Given the description of an element on the screen output the (x, y) to click on. 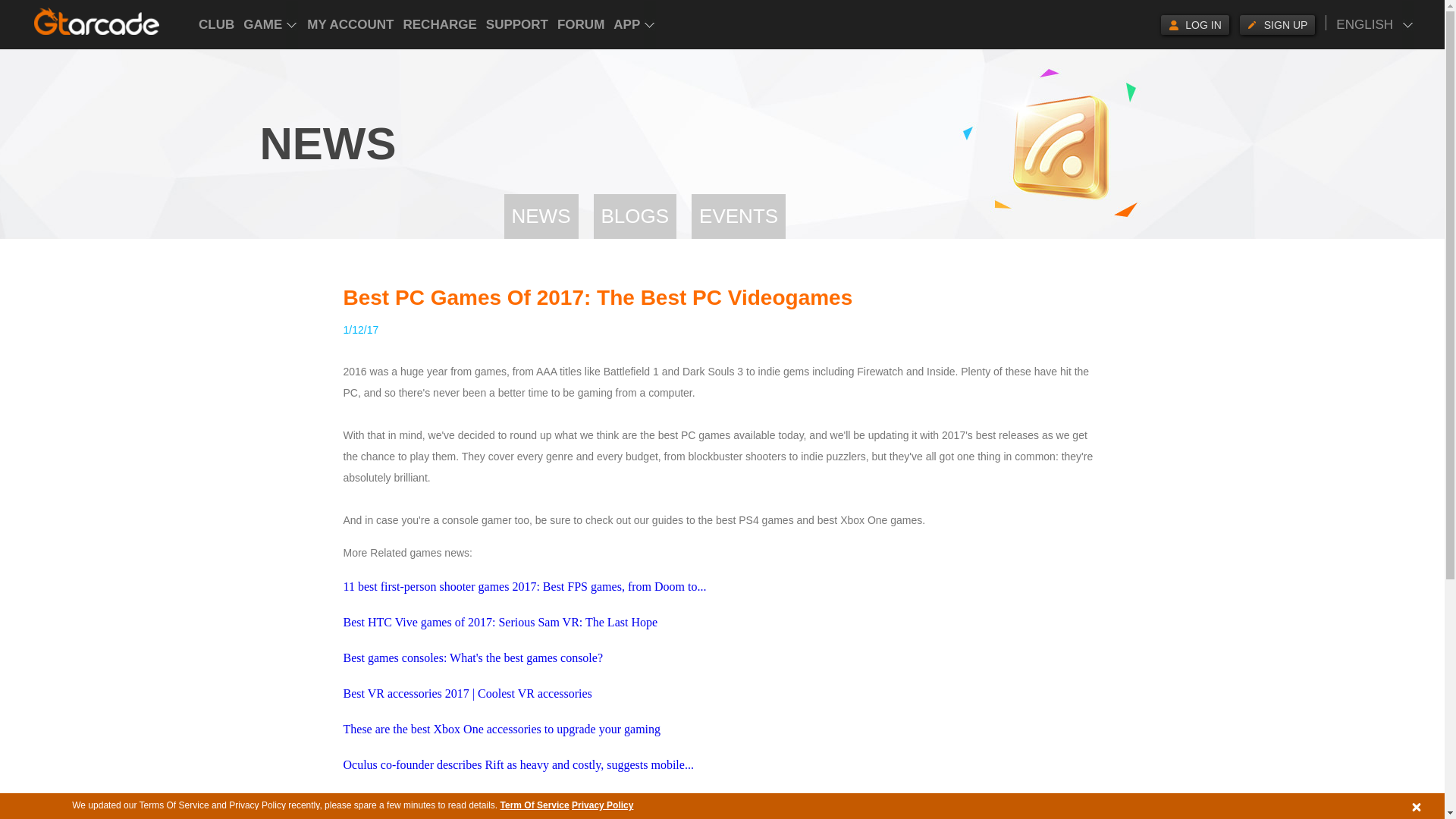
FORUM (580, 24)
Play the best online games on GTarcade.com (96, 21)
CLUB (216, 24)
MY ACCOUNT (350, 24)
GAME (270, 24)
RECHARGE (440, 24)
APP (634, 24)
SUPPORT (517, 24)
